Given the description of an element on the screen output the (x, y) to click on. 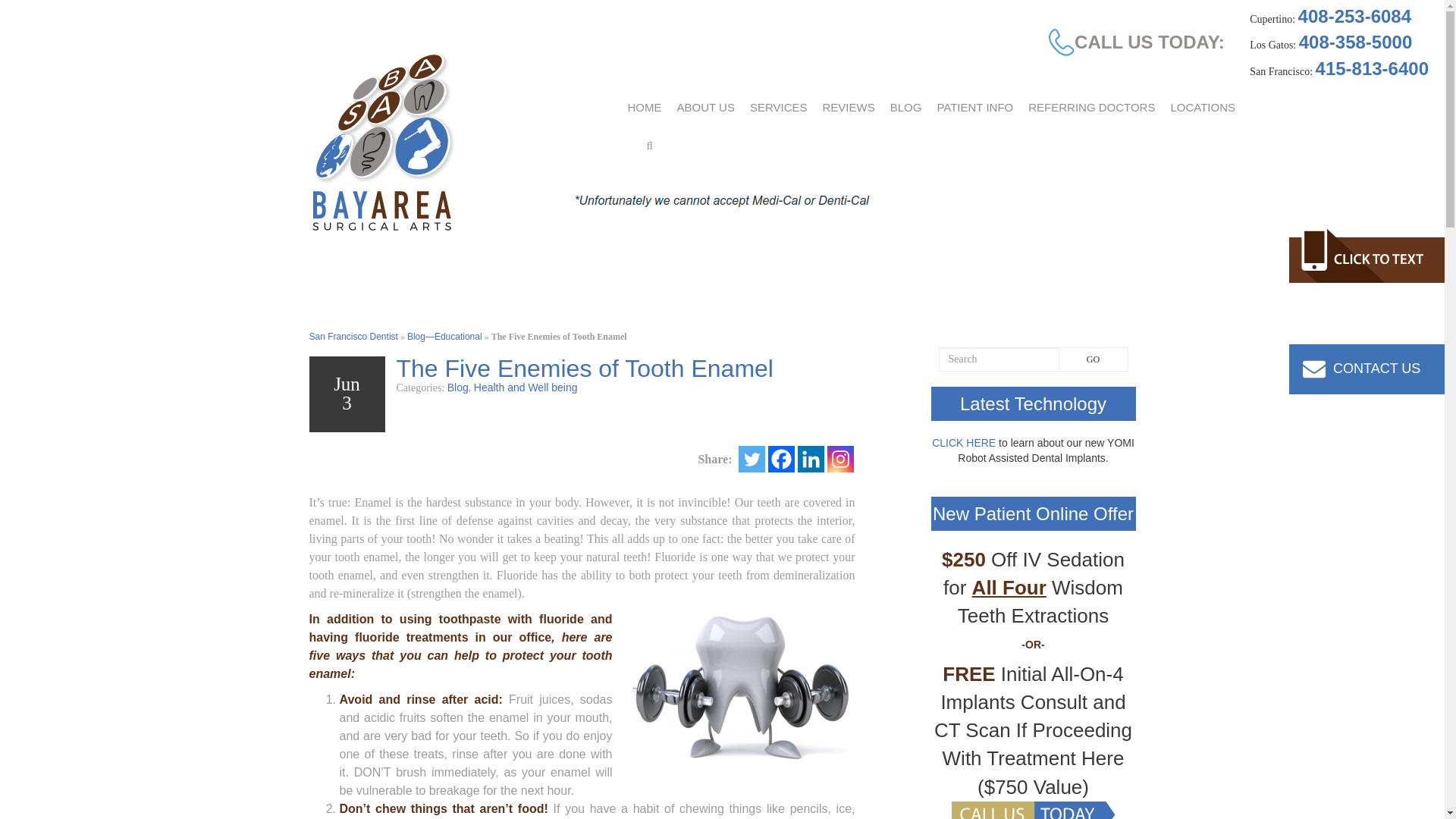
Linkedin (810, 458)
HOME (644, 107)
Facebook (780, 458)
Instagram (840, 458)
408-358-5000 (1355, 41)
408-253-6084 (1354, 15)
Search for: (999, 359)
415-813-6400 (1372, 68)
Twitter (751, 458)
ABOUT US (704, 107)
